Given the description of an element on the screen output the (x, y) to click on. 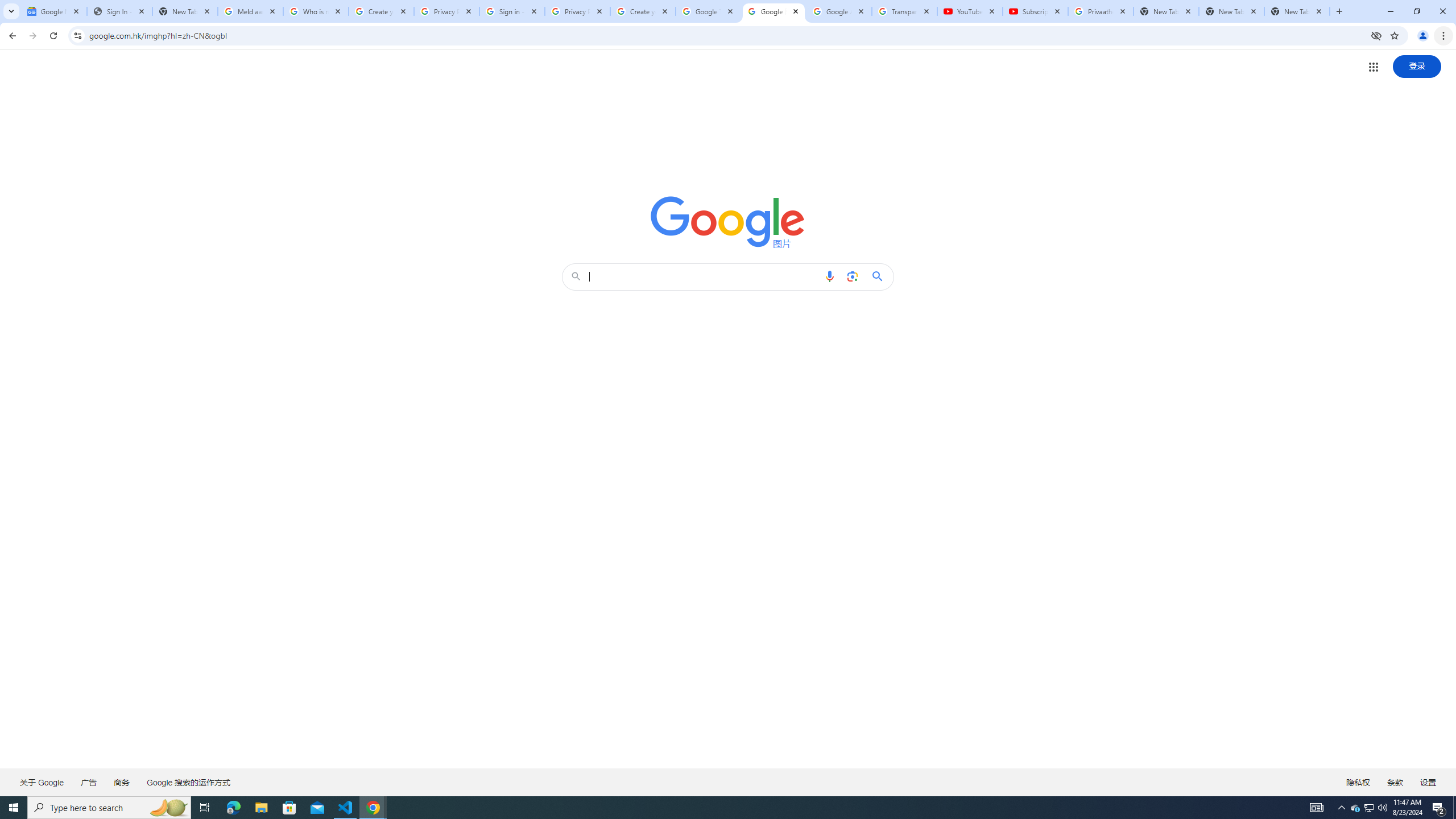
Create your Google Account (643, 11)
Subscriptions - YouTube (1035, 11)
